Given the description of an element on the screen output the (x, y) to click on. 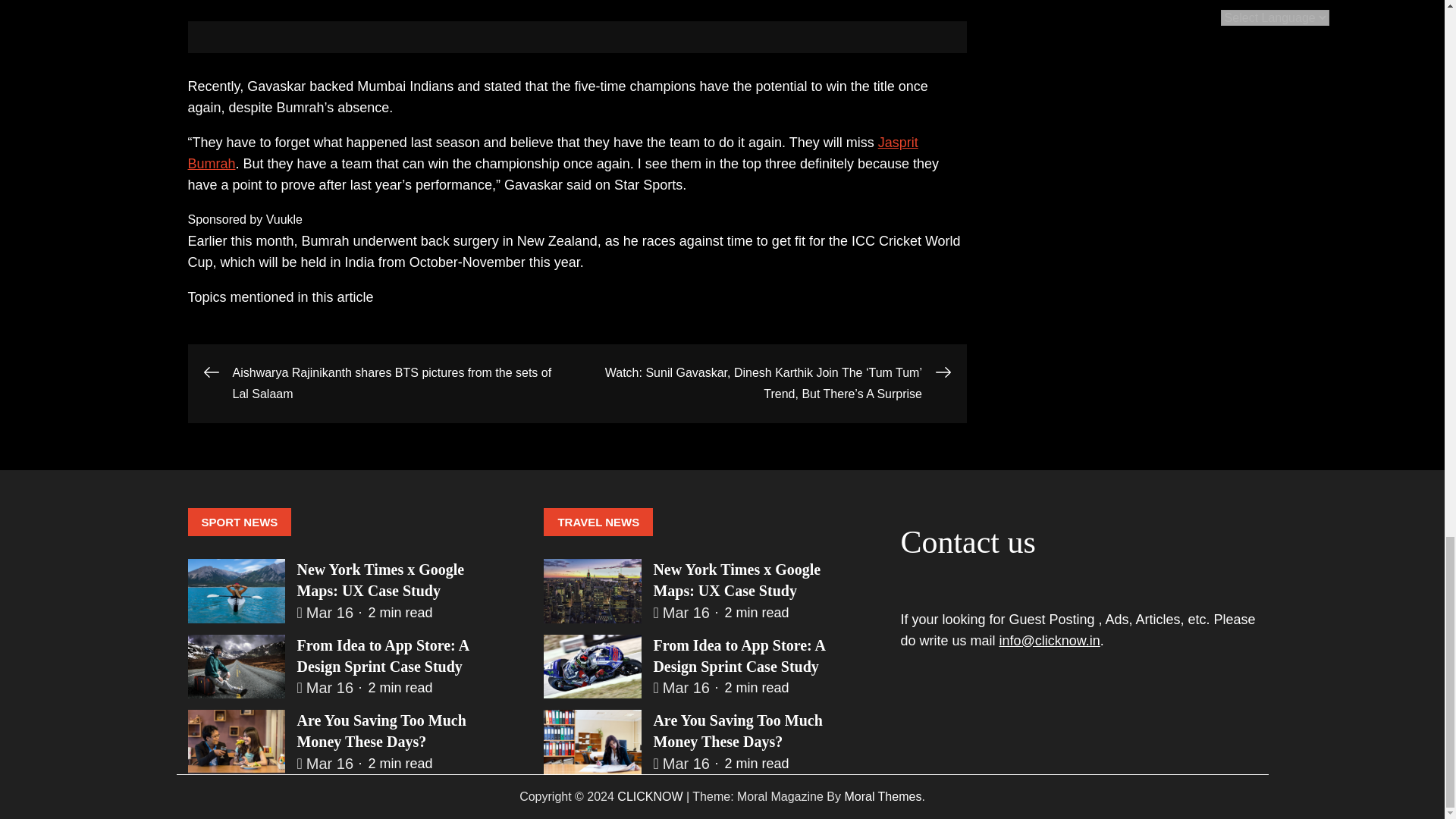
Jasprit Bumrah (552, 153)
